Given the description of an element on the screen output the (x, y) to click on. 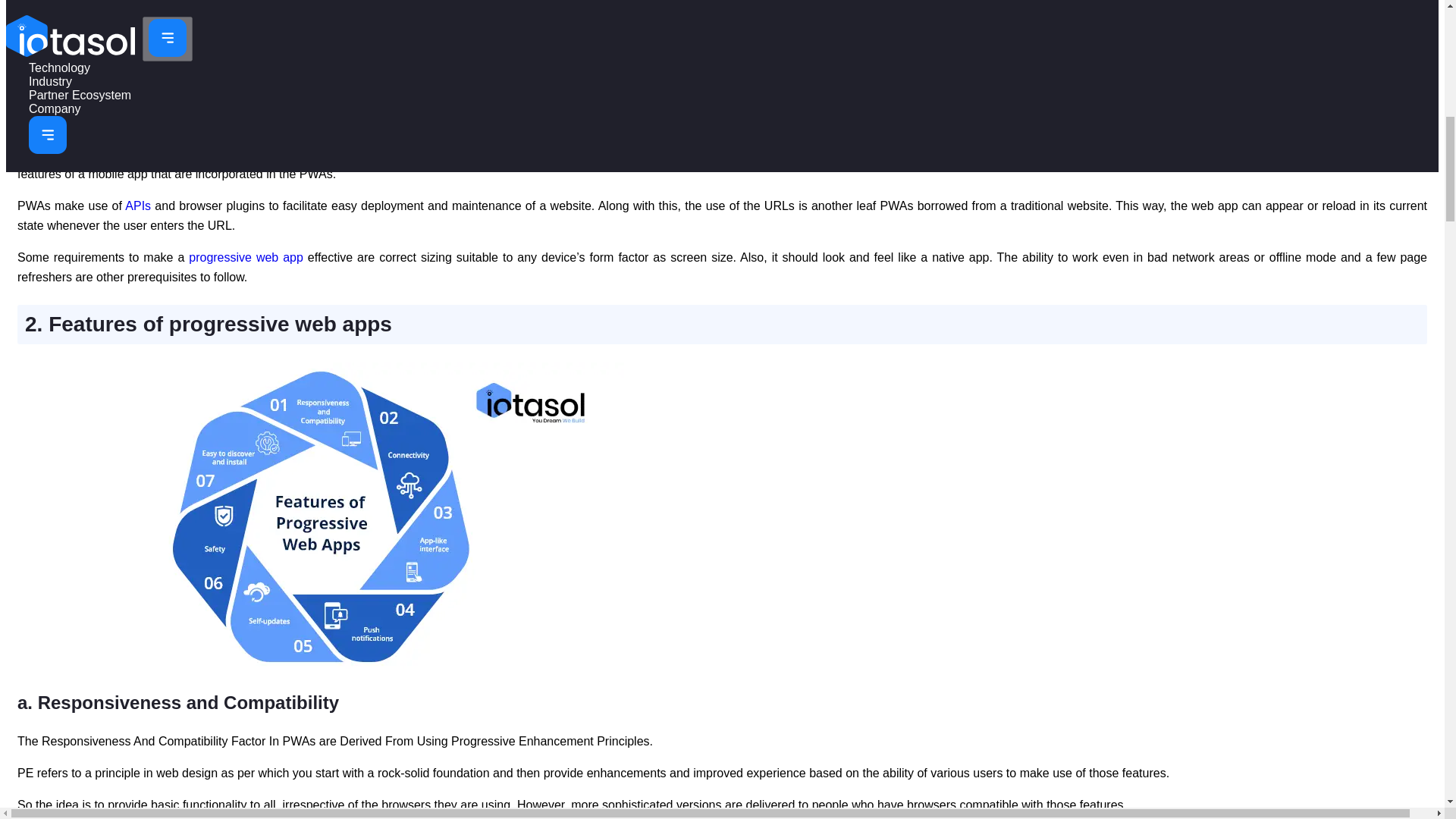
features of a mobile app (609, 154)
APIs (138, 205)
progressive web app (245, 256)
